Given the description of an element on the screen output the (x, y) to click on. 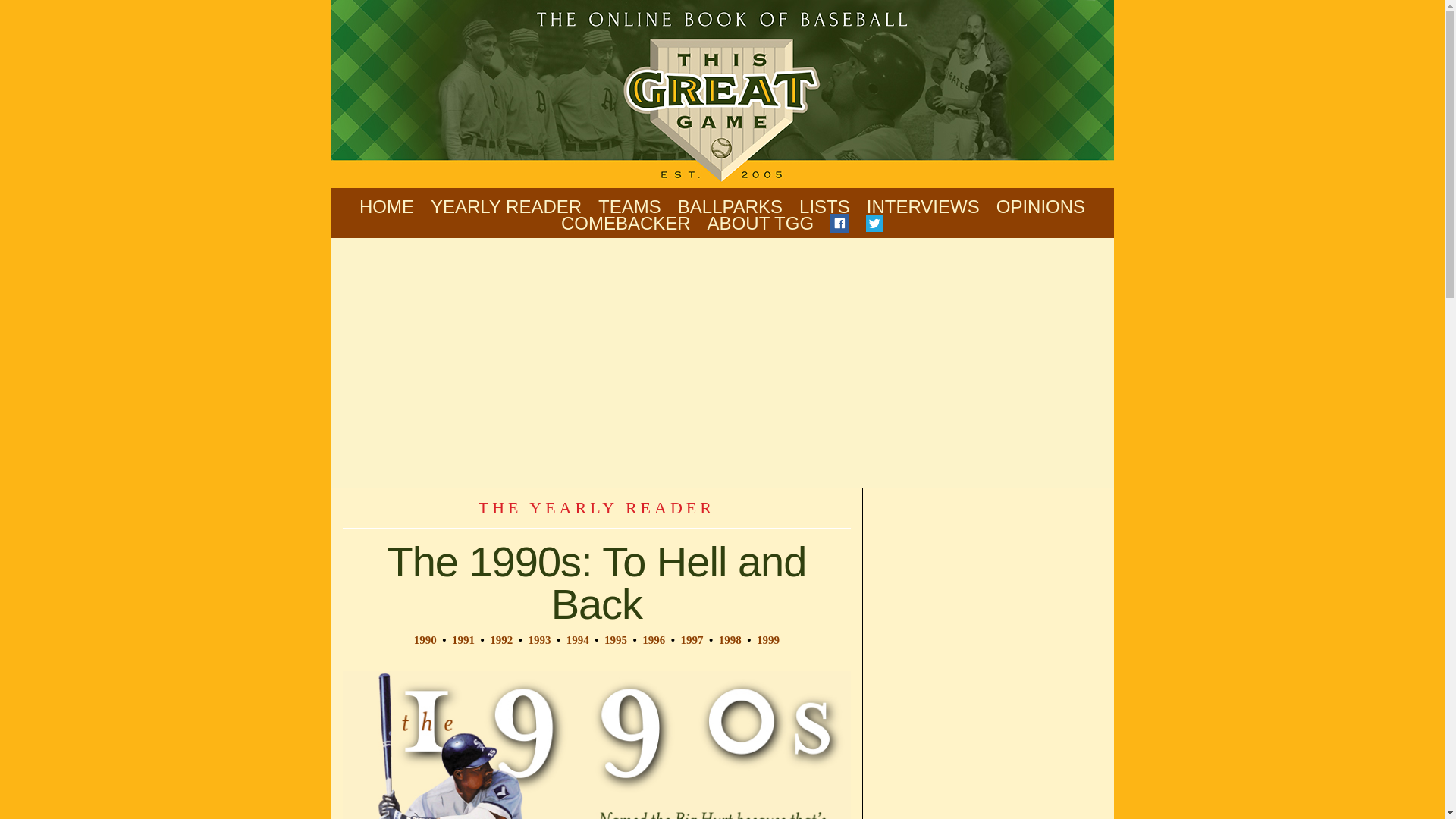
TGG ON FACEBOOK (838, 224)
COMEBACKER (625, 224)
ABOUT TGG (760, 224)
YEARLY READER (505, 206)
LISTS (824, 206)
HOME (386, 206)
1990s-thomas (596, 744)
BALLPARKS (730, 206)
